Given the description of an element on the screen output the (x, y) to click on. 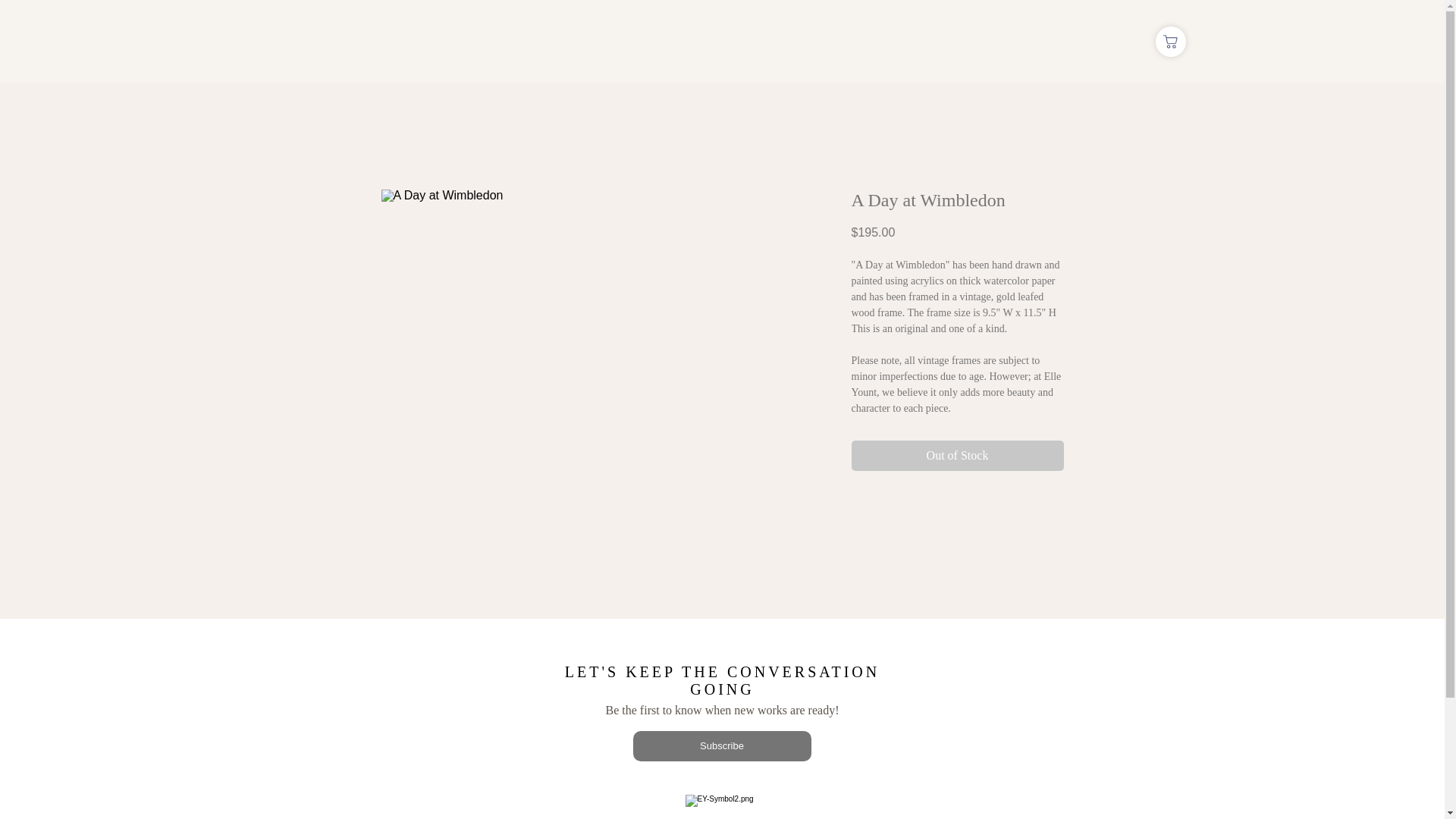
Subscribe (720, 746)
Out of Stock (956, 455)
